Given the description of an element on the screen output the (x, y) to click on. 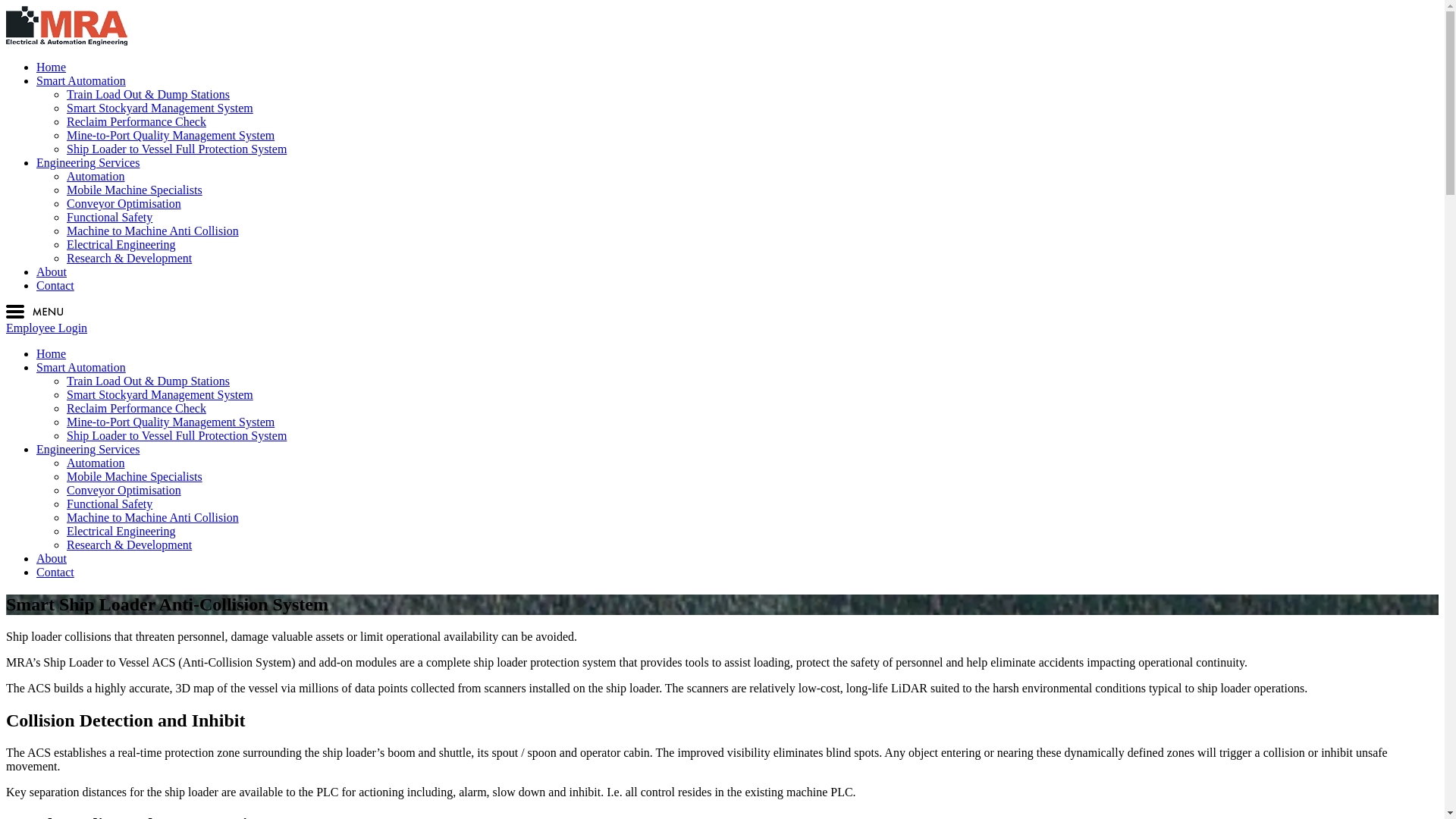
Research & Development Element type: text (128, 257)
Engineering Services Element type: text (87, 162)
Smart Stockyard Management System Element type: text (159, 107)
Reclaim Performance Check Element type: text (136, 407)
Reclaim Performance Check Element type: text (136, 121)
Contact Element type: text (55, 571)
Machine to Machine Anti Collision Element type: text (152, 230)
About Element type: text (51, 271)
Smart Automation Element type: text (80, 366)
Mobile Machine Specialists Element type: text (134, 476)
Mine-to-Port Quality Management System Element type: text (170, 134)
Home Element type: text (50, 66)
Ship Loader to Vessel Full Protection System Element type: text (176, 148)
Research & Development Element type: text (128, 544)
Ship Loader to Vessel Full Protection System Element type: text (176, 435)
Mine-to-Port Quality Management System Element type: text (170, 421)
Smart Stockyard Management System Element type: text (159, 394)
Automation Element type: text (95, 462)
Employee Login Element type: text (46, 327)
Conveyor Optimisation Element type: text (123, 489)
Train Load Out & Dump Stations Element type: text (147, 93)
Machine to Machine Anti Collision Element type: text (152, 517)
Contact Element type: text (55, 285)
Functional Safety Element type: text (109, 503)
Train Load Out & Dump Stations Element type: text (147, 380)
Electrical Engineering Element type: text (120, 530)
Smart Automation Element type: text (80, 80)
Functional Safety Element type: text (109, 216)
Engineering Services Element type: text (87, 448)
Electrical Engineering Element type: text (120, 244)
About Element type: text (51, 558)
Automation Element type: text (95, 175)
Conveyor Optimisation Element type: text (123, 203)
Home Element type: text (50, 353)
Mobile Machine Specialists Element type: text (134, 189)
